Given the description of an element on the screen output the (x, y) to click on. 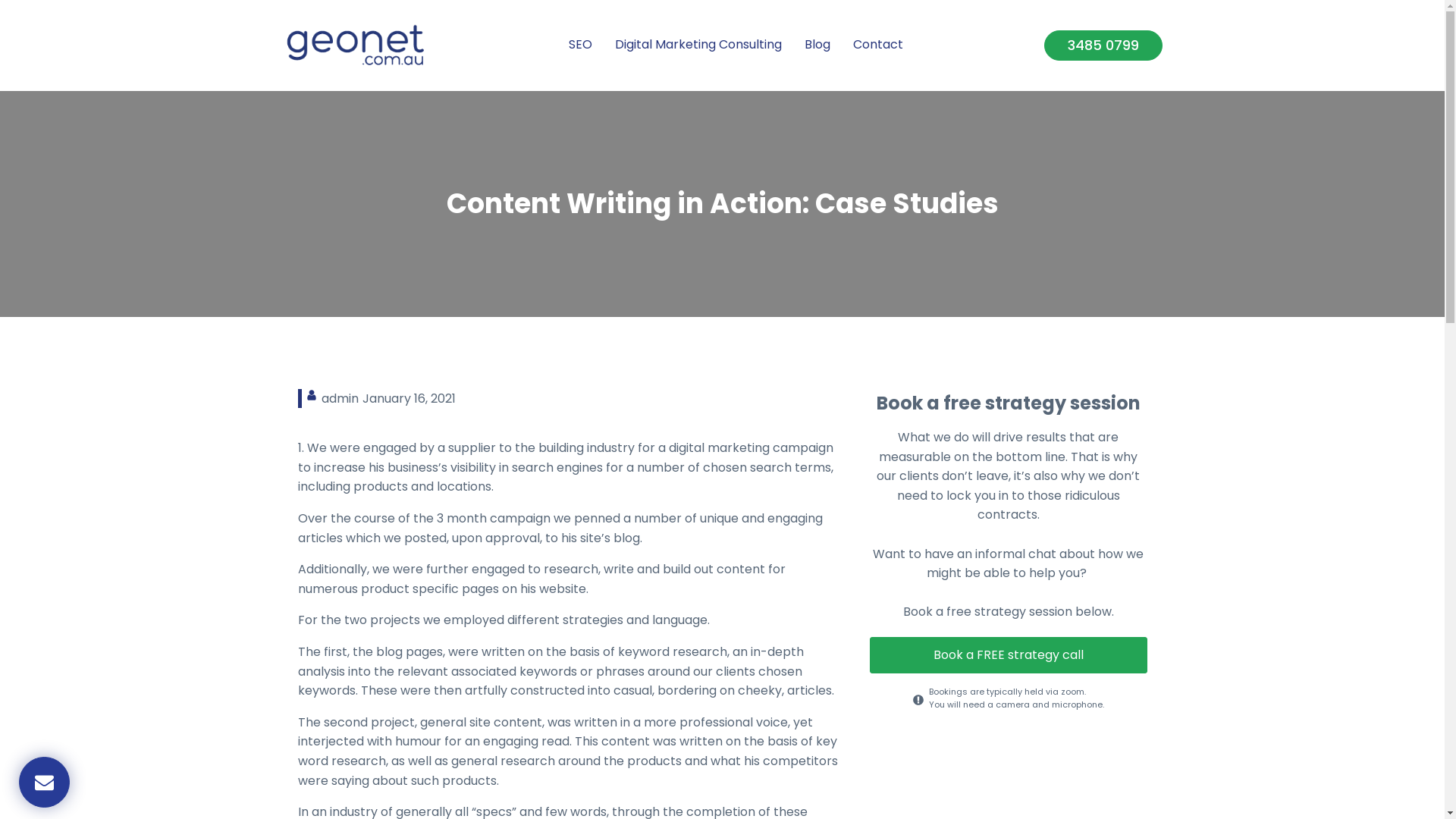
SEO Element type: text (580, 45)
Contact Element type: text (877, 45)
3485 0799 Element type: text (1102, 45)
Digital Marketing Consulting Element type: text (698, 45)
Book a FREE strategy call Element type: text (1007, 655)
Blog Element type: text (817, 45)
